Given the description of an element on the screen output the (x, y) to click on. 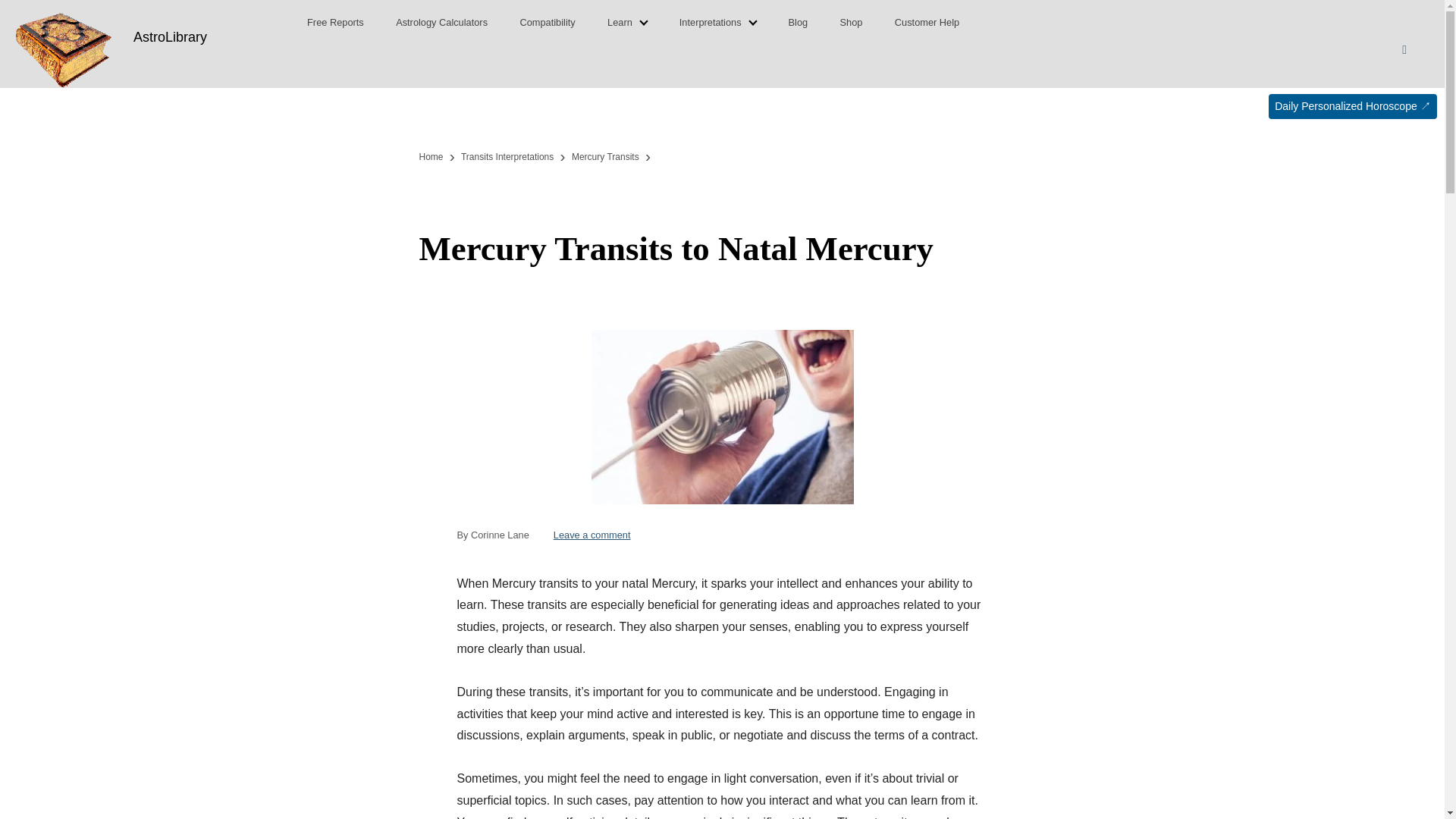
Blog (798, 22)
AstroLibrary (169, 37)
Astrology Blog Articles (798, 22)
Astrology Calculators (591, 534)
Compatibility (441, 22)
Mercury Transits (546, 22)
Home (605, 156)
Free Reports (430, 156)
Customer Help (335, 22)
Transits Interpretations (926, 22)
Shop (507, 156)
